Given the description of an element on the screen output the (x, y) to click on. 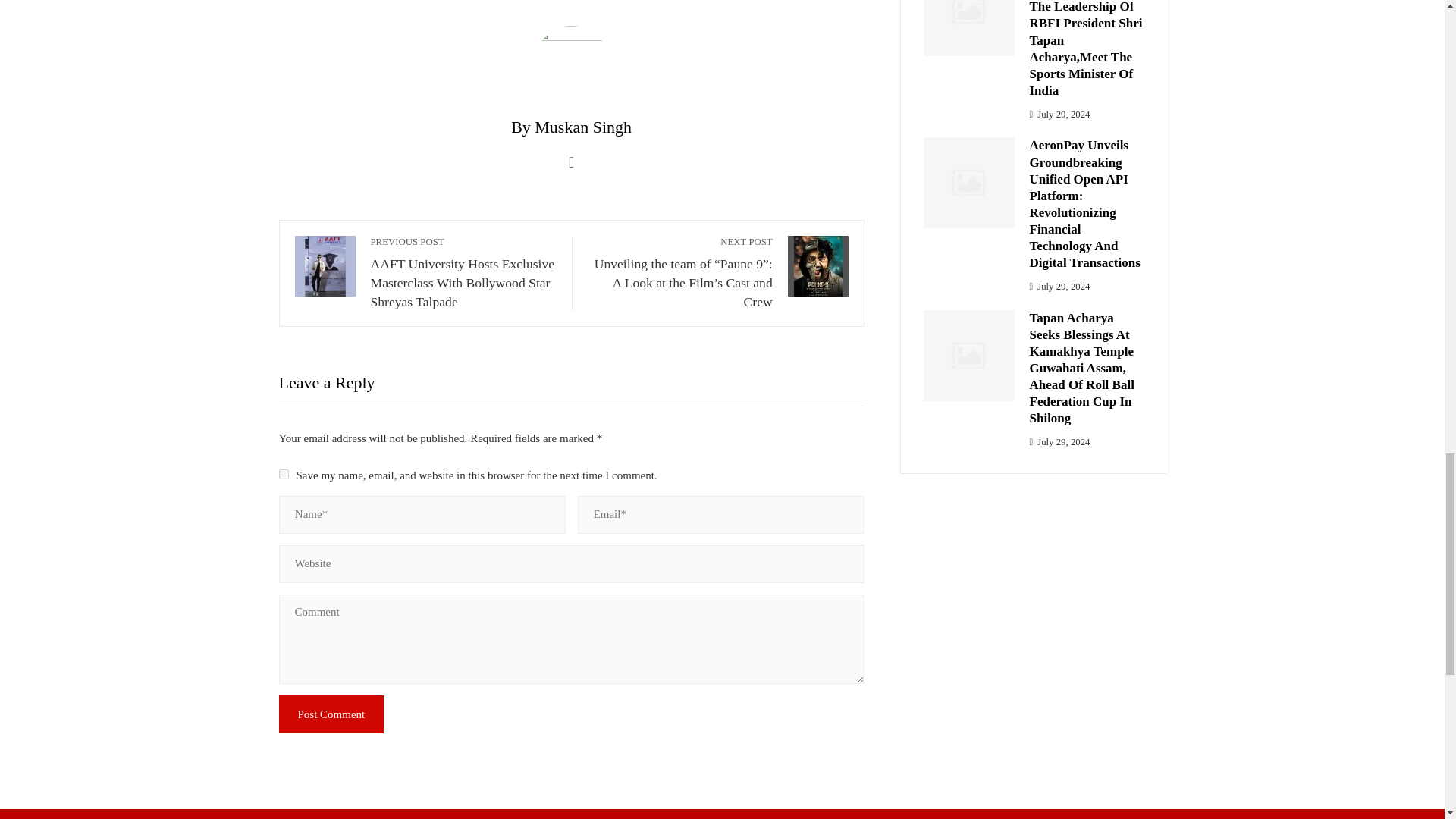
Post Comment (331, 714)
yes (283, 474)
Post Comment (331, 714)
